Given the description of an element on the screen output the (x, y) to click on. 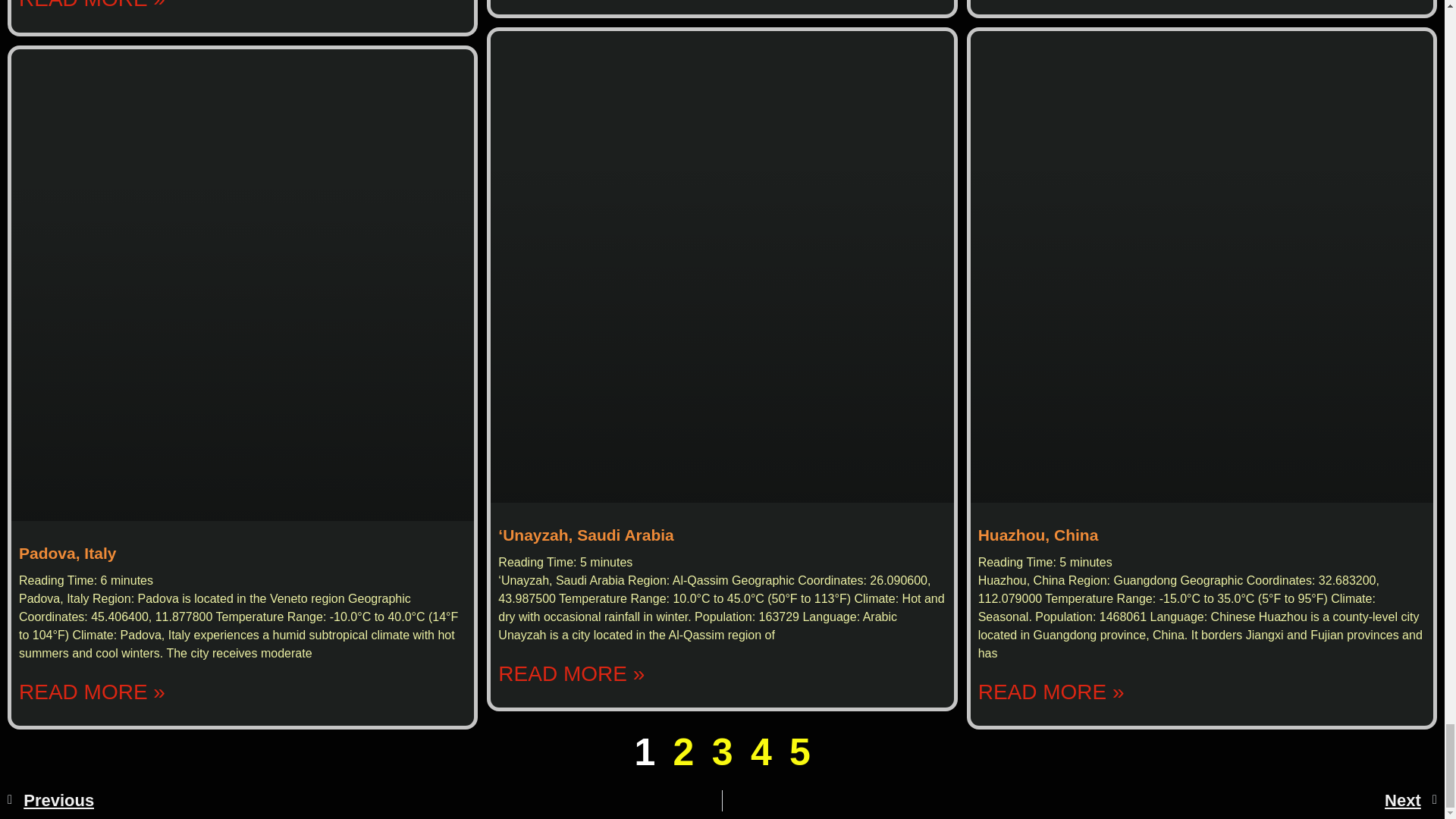
Padova, Italy (67, 552)
Huazhou, China (1038, 534)
Previous (364, 800)
Next (1079, 800)
